Given the description of an element on the screen output the (x, y) to click on. 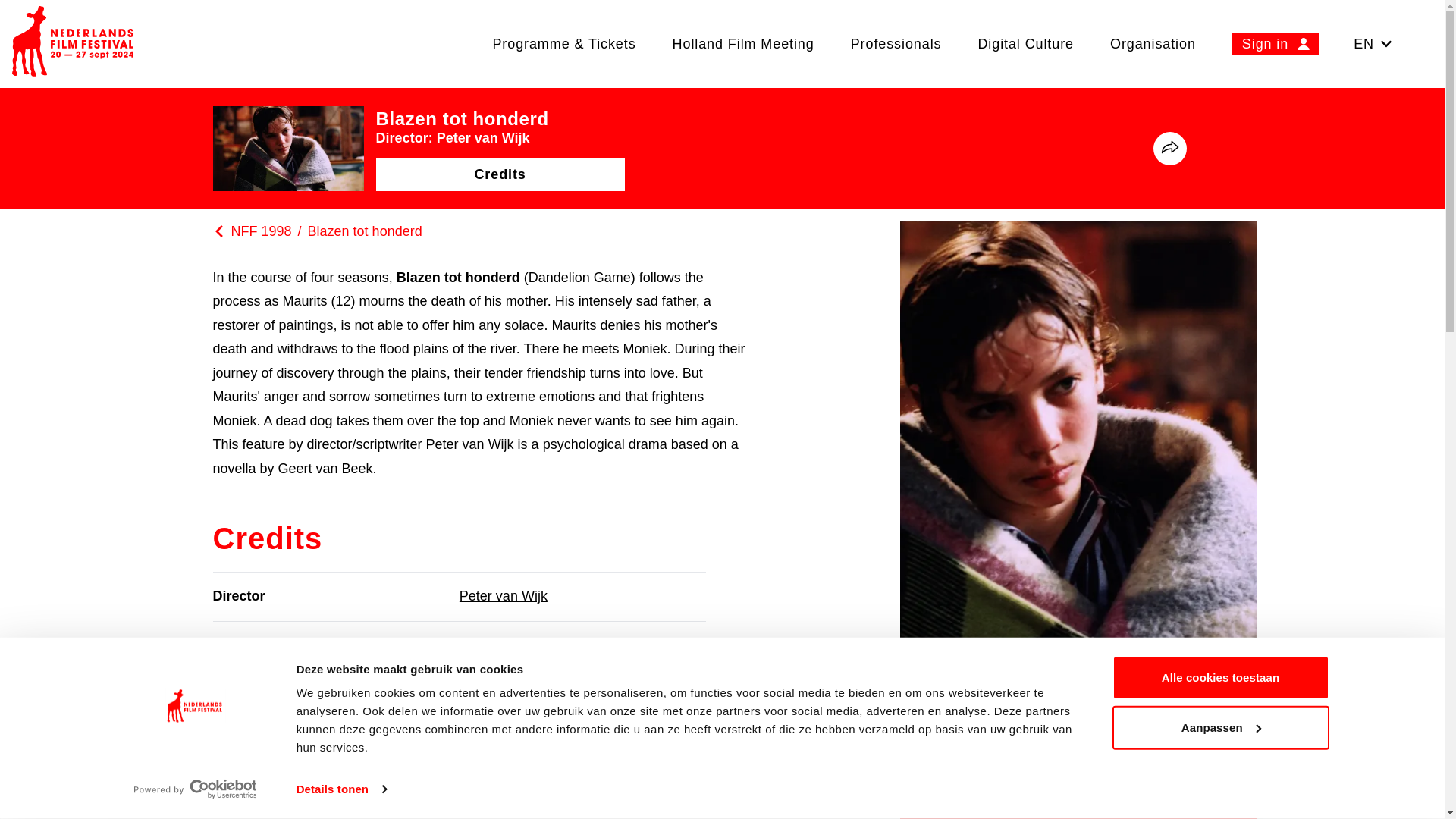
Digital Culture (1025, 43)
Visit the homepage (72, 43)
Details tonen (342, 789)
Credits (499, 174)
Organisation (1153, 43)
Holland Film Meeting (742, 43)
Professionals (895, 43)
